Given the description of an element on the screen output the (x, y) to click on. 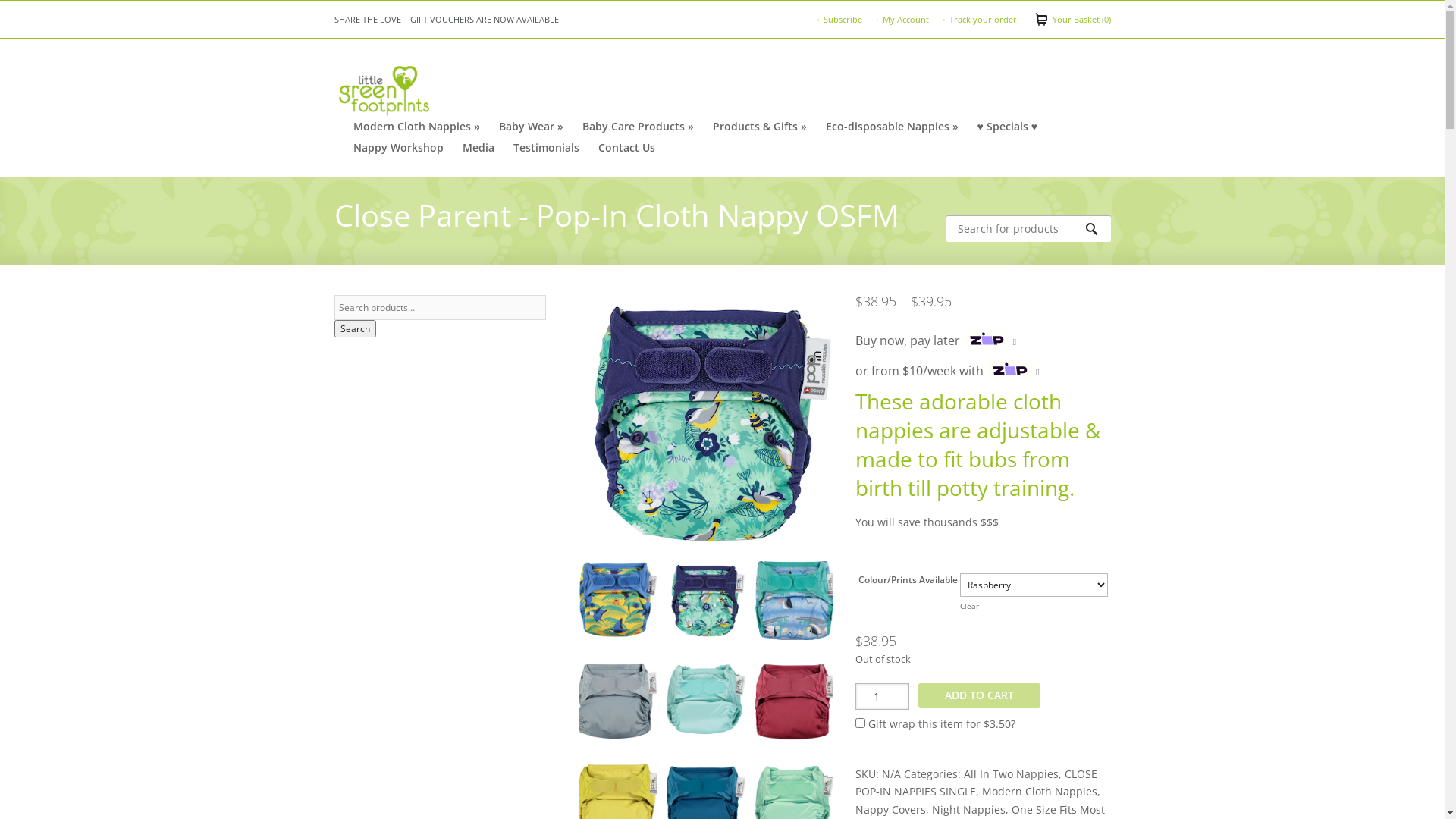
Clear Element type: text (969, 605)
Testimonials Element type: text (545, 147)
Search Element type: text (1097, 228)
close-pop-in-nappy-sky Element type: hover (705, 705)
VIEW OUR LATEST SPECIALS Element type: text (387, 19)
close-pop-in-nappy-slate Element type: hover (617, 705)
Night Nappies Element type: text (968, 809)
close-pop-in-nappy-velcro-around-the-garden Element type: hover (706, 422)
Nappy Covers Element type: text (890, 809)
close-pop-in-nappy-velcro-around-the-garden Element type: hover (705, 606)
close-pop-in-nappy-puffin-bio-laminate Element type: hover (794, 606)
ADD TO CART Element type: text (979, 695)
close-pop-in-nappy-osfm-velcro-parrot Element type: hover (617, 605)
Contact Us Element type: text (625, 147)
Nappy Workshop Element type: text (398, 147)
Modern Cloth Nappies Element type: text (1039, 791)
CLOSE POP-IN NAPPIES SINGLE Element type: text (976, 782)
Search Element type: text (354, 328)
Little Green Footprints Element type: text (382, 89)
All In Two Nappies Element type: text (1010, 773)
Media Element type: text (478, 147)
close-pop-in-nappy-raspberry Element type: hover (794, 706)
Your Basket (0) Element type: text (1072, 18)
